Given the description of an element on the screen output the (x, y) to click on. 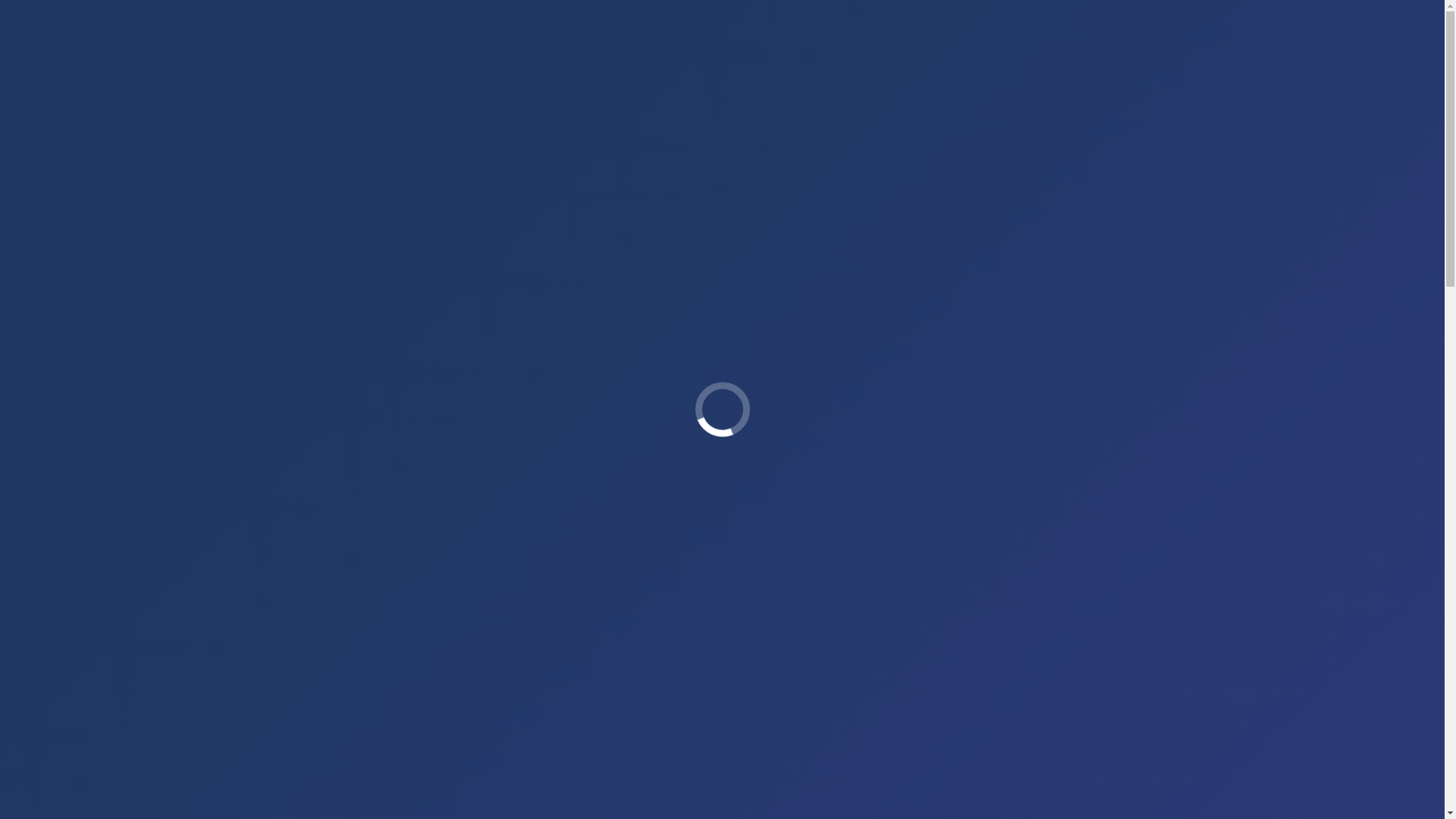
Share on LinkedIn (719, 713)
1 (648, 572)
WhatsApp (759, 713)
Instagram page opens in new window (47, 14)
Inicio (513, 253)
Facebook (800, 713)
LinkedIn (719, 713)
Pinterest (678, 713)
Share on X (636, 713)
Share on WhatsApp (759, 713)
